Given the description of an element on the screen output the (x, y) to click on. 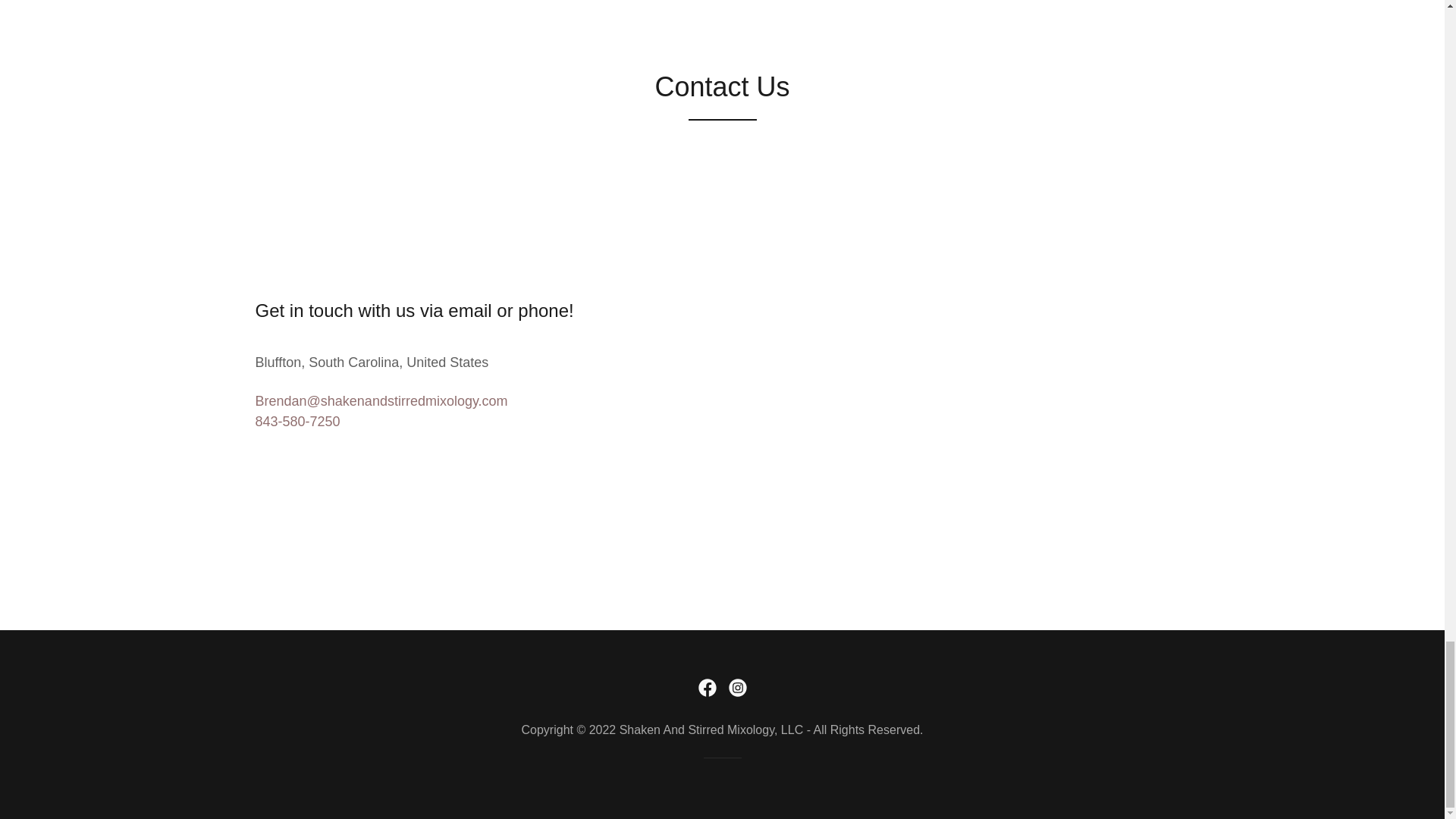
843-580-7250 (296, 421)
